Given the description of an element on the screen output the (x, y) to click on. 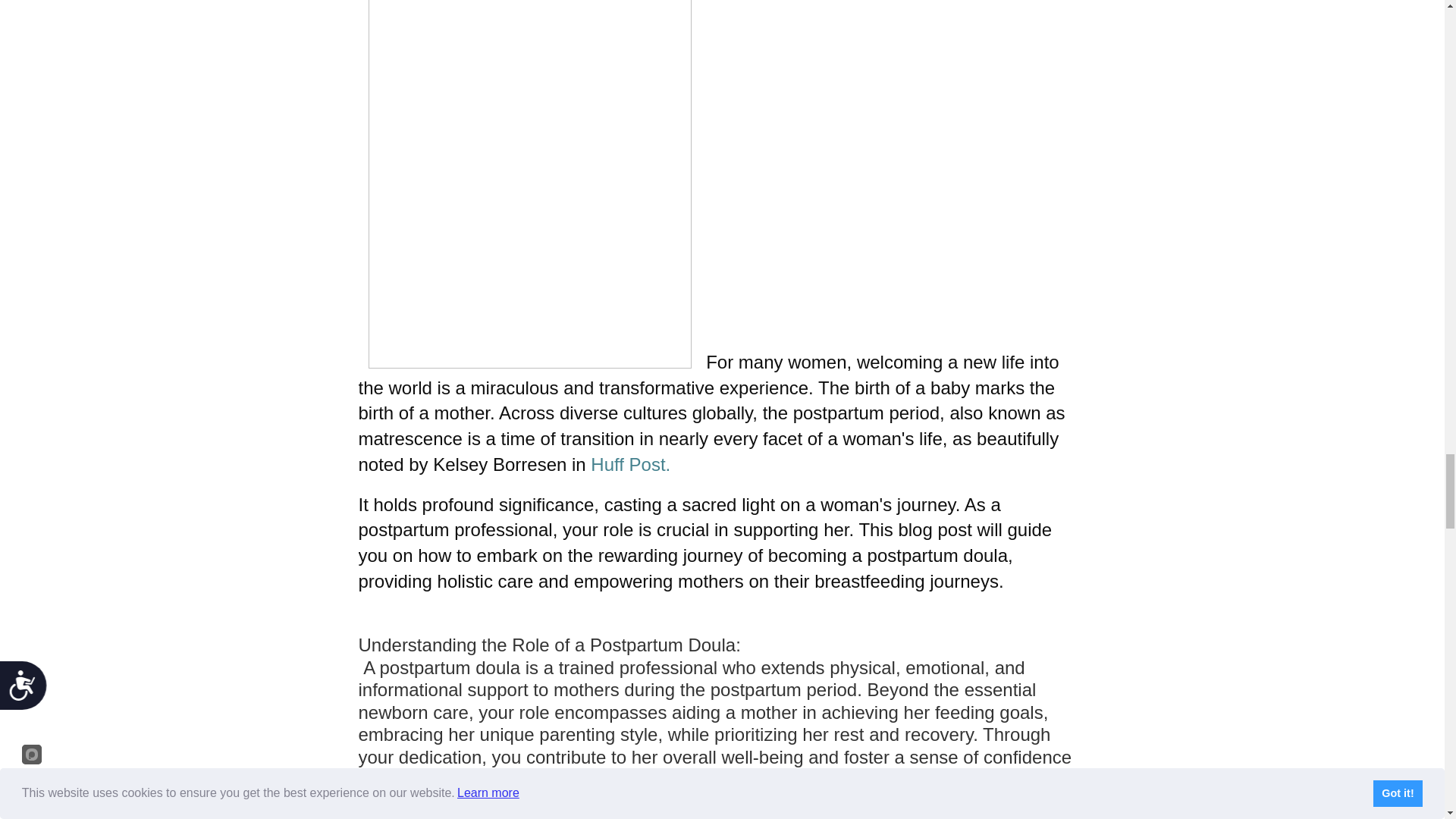
Huff Post. (630, 464)
